Given the description of an element on the screen output the (x, y) to click on. 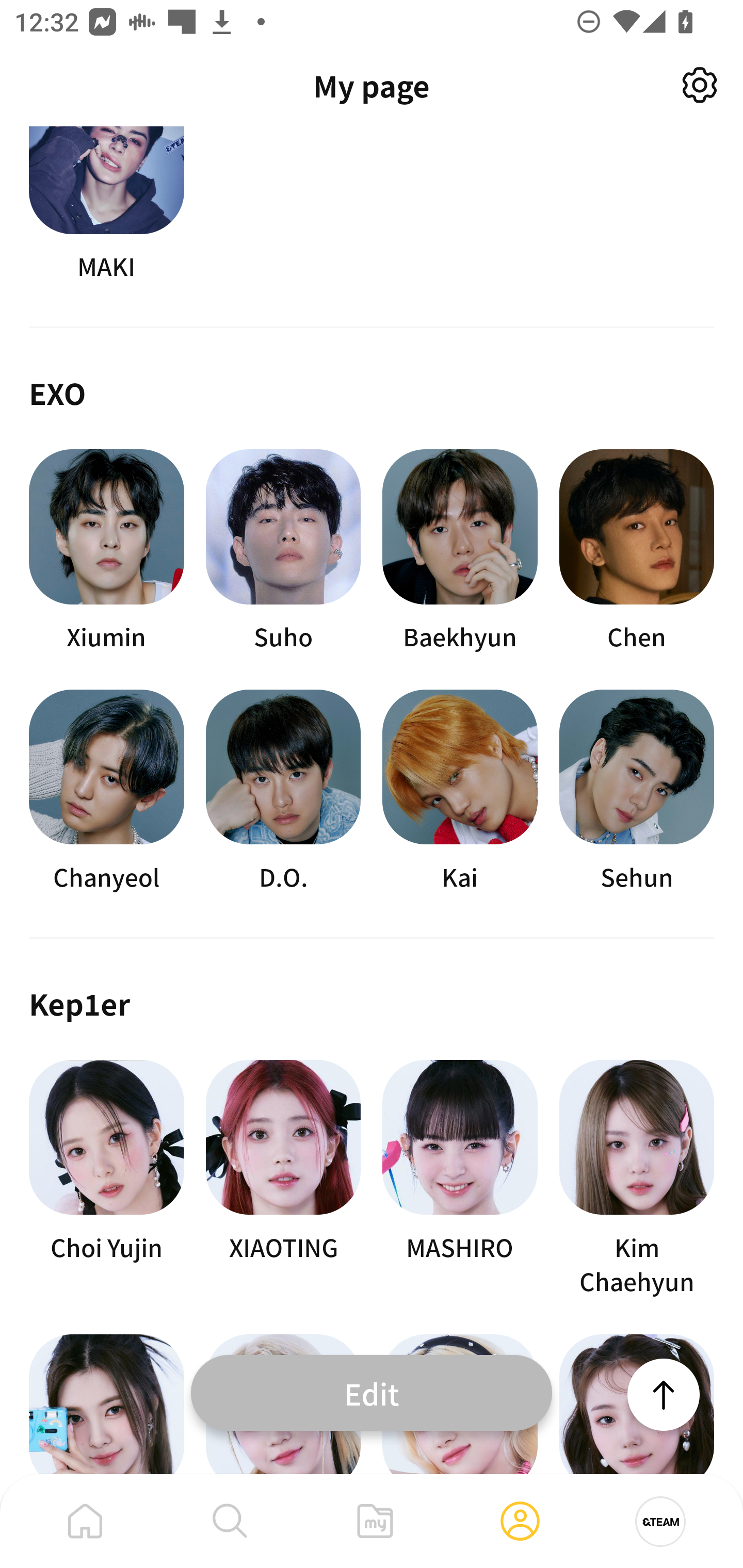
MAKI (106, 205)
Xiumin (106, 551)
Suho (282, 551)
Baekhyun (459, 551)
Chen (636, 551)
Chanyeol (106, 791)
D.O. (282, 791)
Kai (459, 791)
Sehun (636, 791)
Choi Yujin (106, 1178)
XIAOTING (282, 1178)
MASHIRO (459, 1178)
Kim Chaehyun (636, 1178)
Edit (371, 1392)
